Given the description of an element on the screen output the (x, y) to click on. 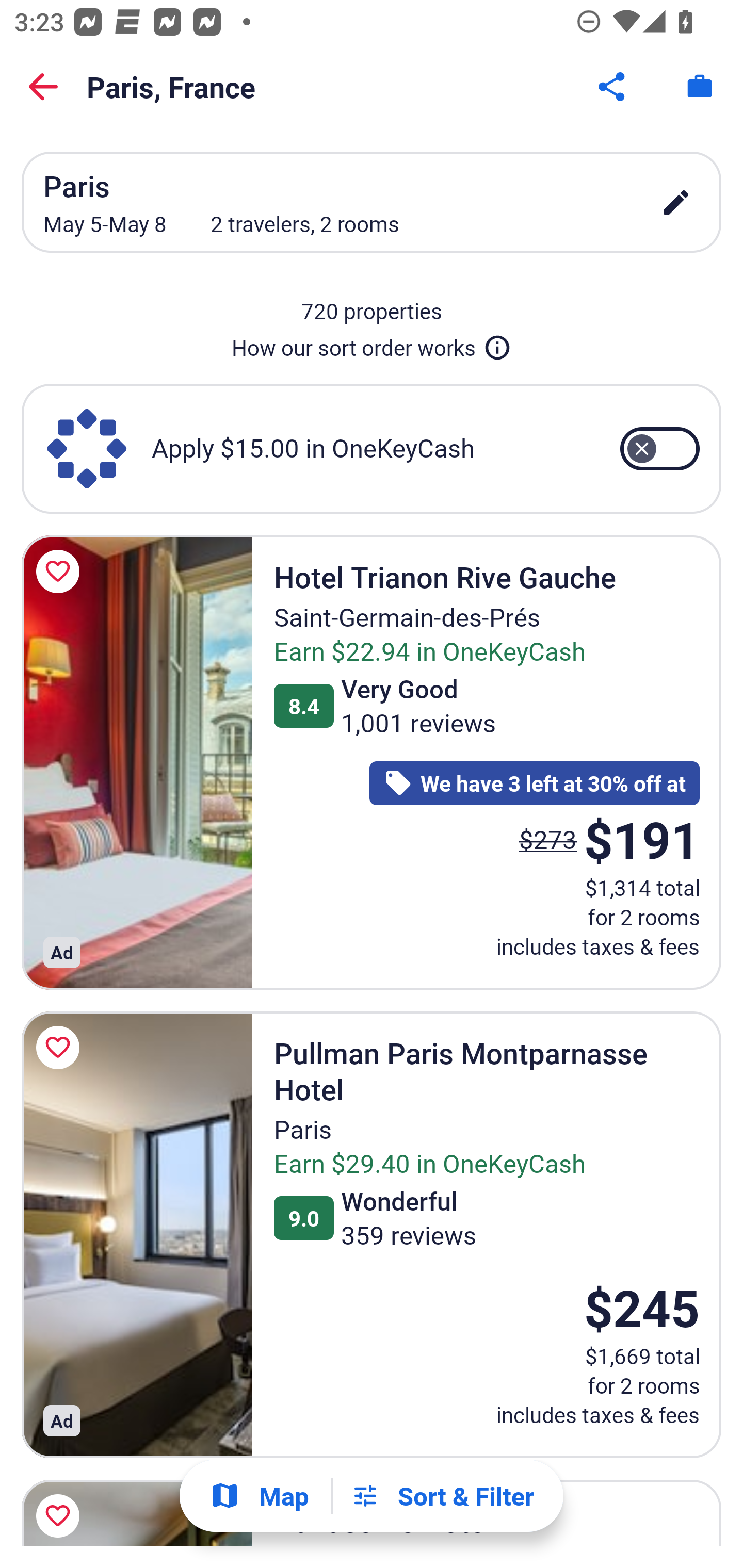
Back (43, 86)
Share Button (612, 86)
Trips. Button (699, 86)
Paris May 5-May 8 2 travelers, 2 rooms edit (371, 202)
How our sort order works (371, 344)
Save Hotel Trianon Rive Gauche to a trip (61, 571)
Hotel Trianon Rive Gauche (136, 761)
$273 The price was $273 (547, 839)
Save Pullman Paris Montparnasse Hotel to a trip (61, 1047)
Pullman Paris Montparnasse Hotel (136, 1234)
Filters Sort & Filter Filters Button (442, 1495)
Save Handsome Hotel  to a trip (61, 1509)
Show map Map Show map Button (258, 1495)
